Given the description of an element on the screen output the (x, y) to click on. 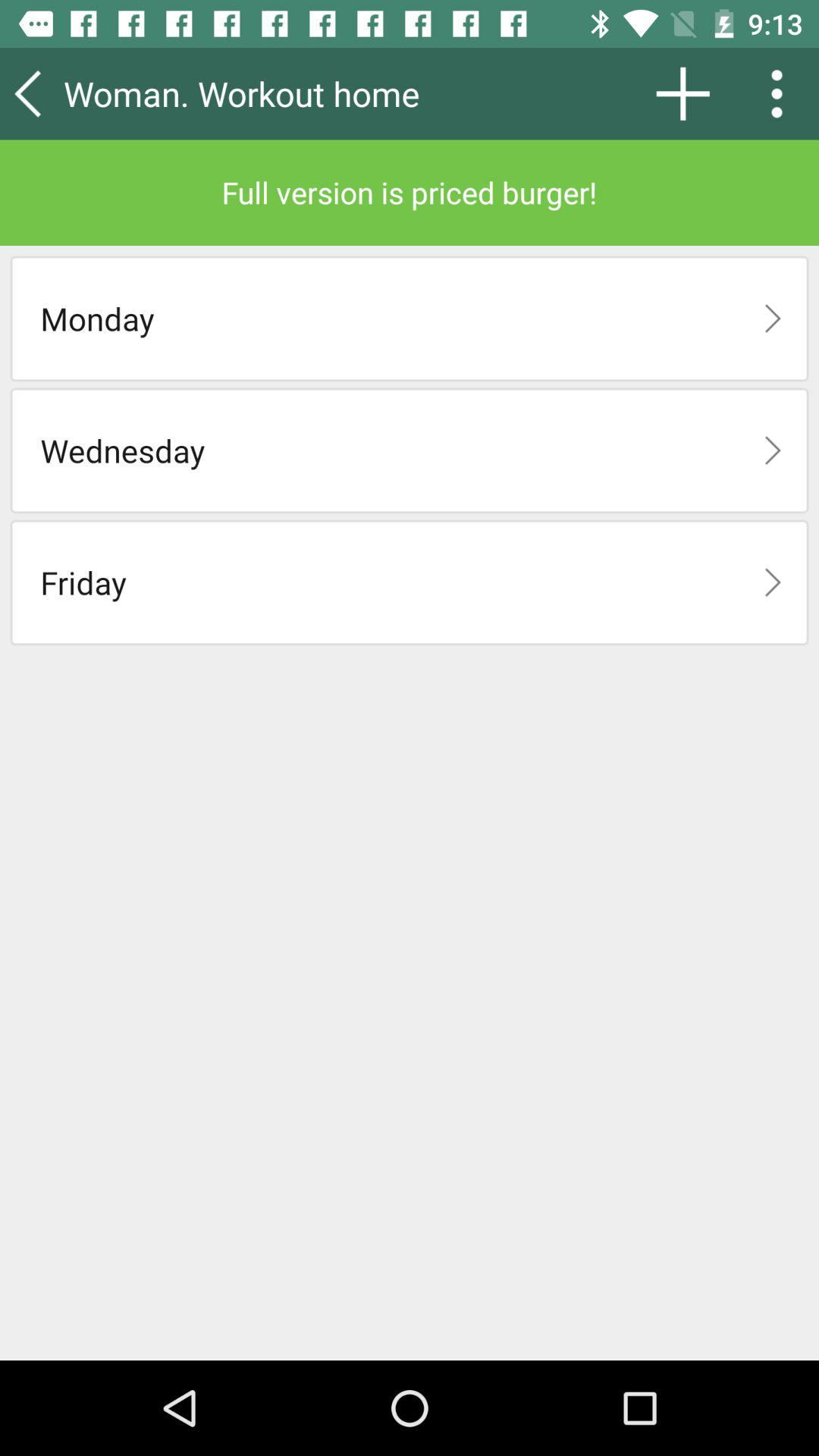
turn on the icon above the full version is (782, 93)
